Given the description of an element on the screen output the (x, y) to click on. 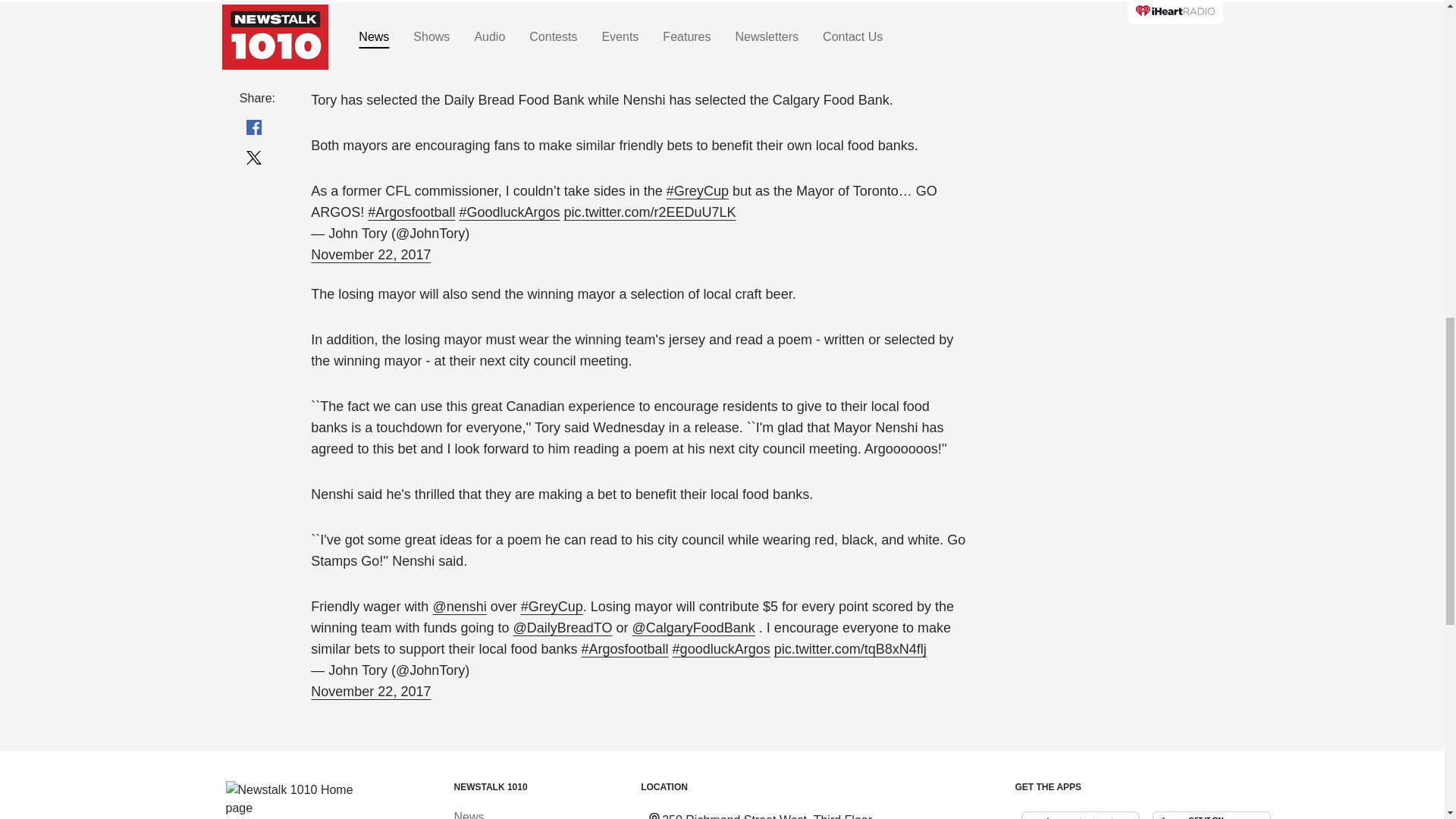
Get it on Google Play (1212, 815)
News (467, 814)
Download on the App Store (1080, 815)
November 22, 2017 (370, 254)
November 22, 2017 (370, 690)
